Given the description of an element on the screen output the (x, y) to click on. 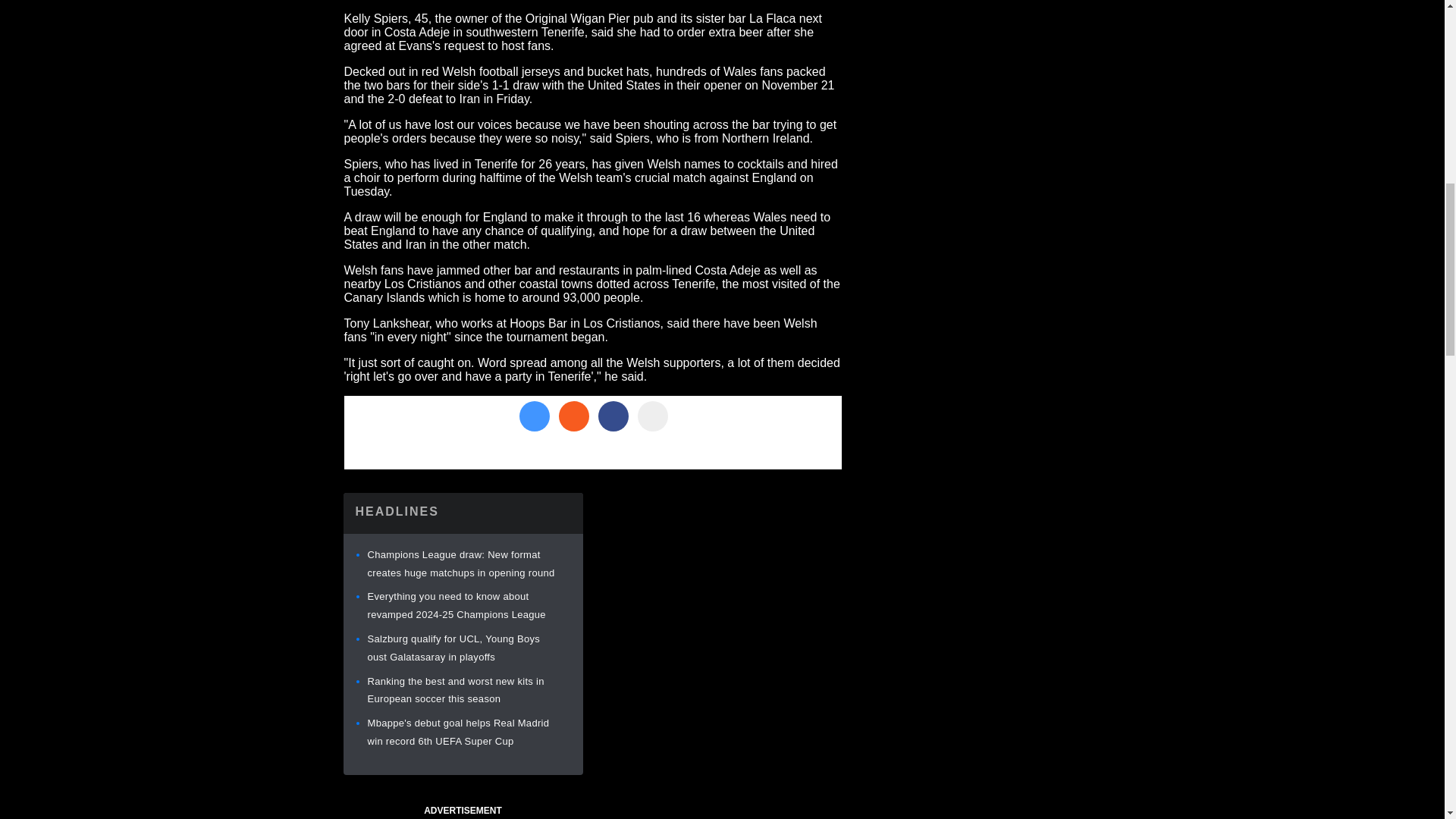
Reddit (572, 416)
Facebook (611, 416)
Email (651, 416)
Twitter (533, 416)
